Given the description of an element on the screen output the (x, y) to click on. 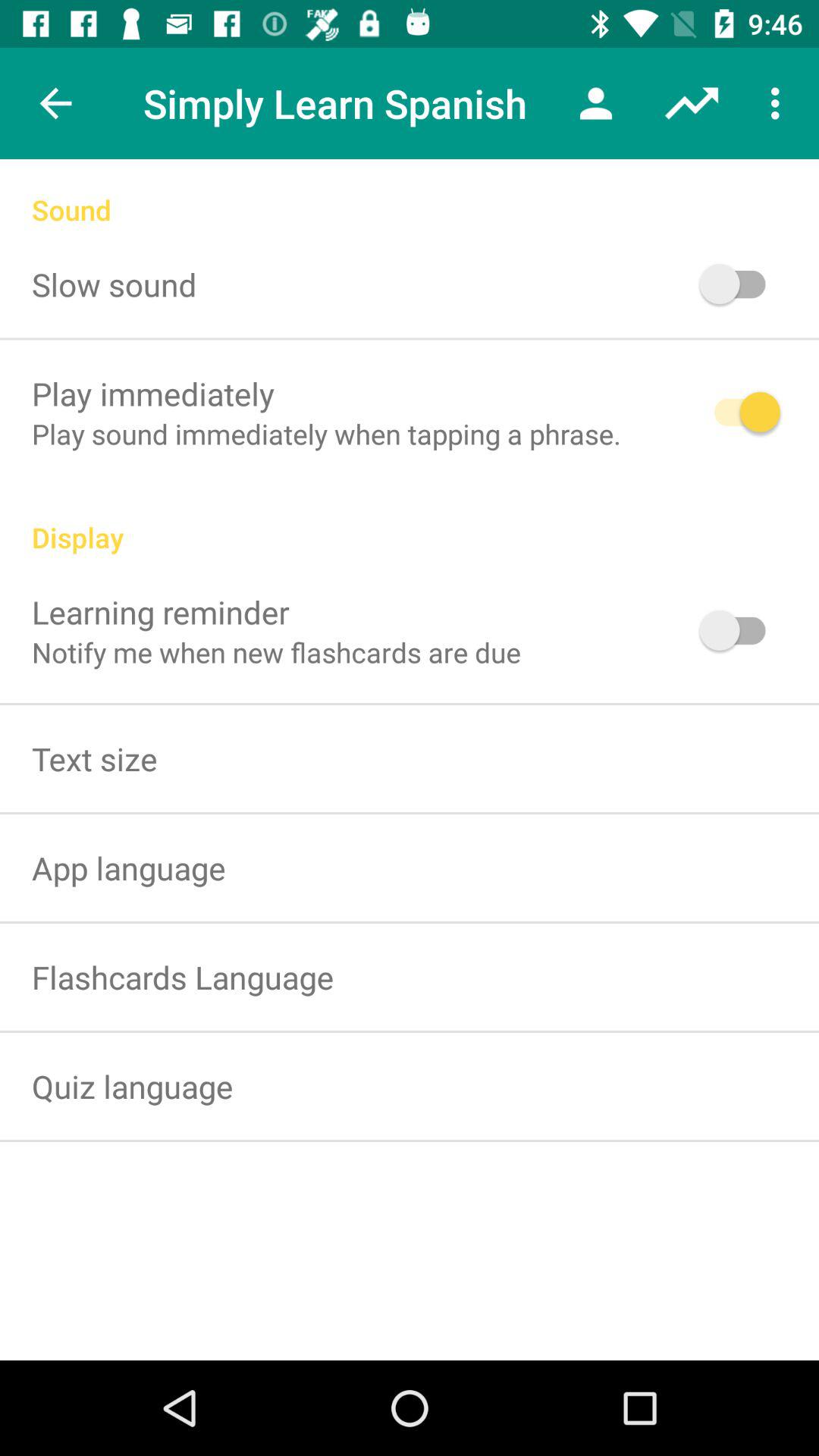
click icon above the sound item (691, 103)
